Given the description of an element on the screen output the (x, y) to click on. 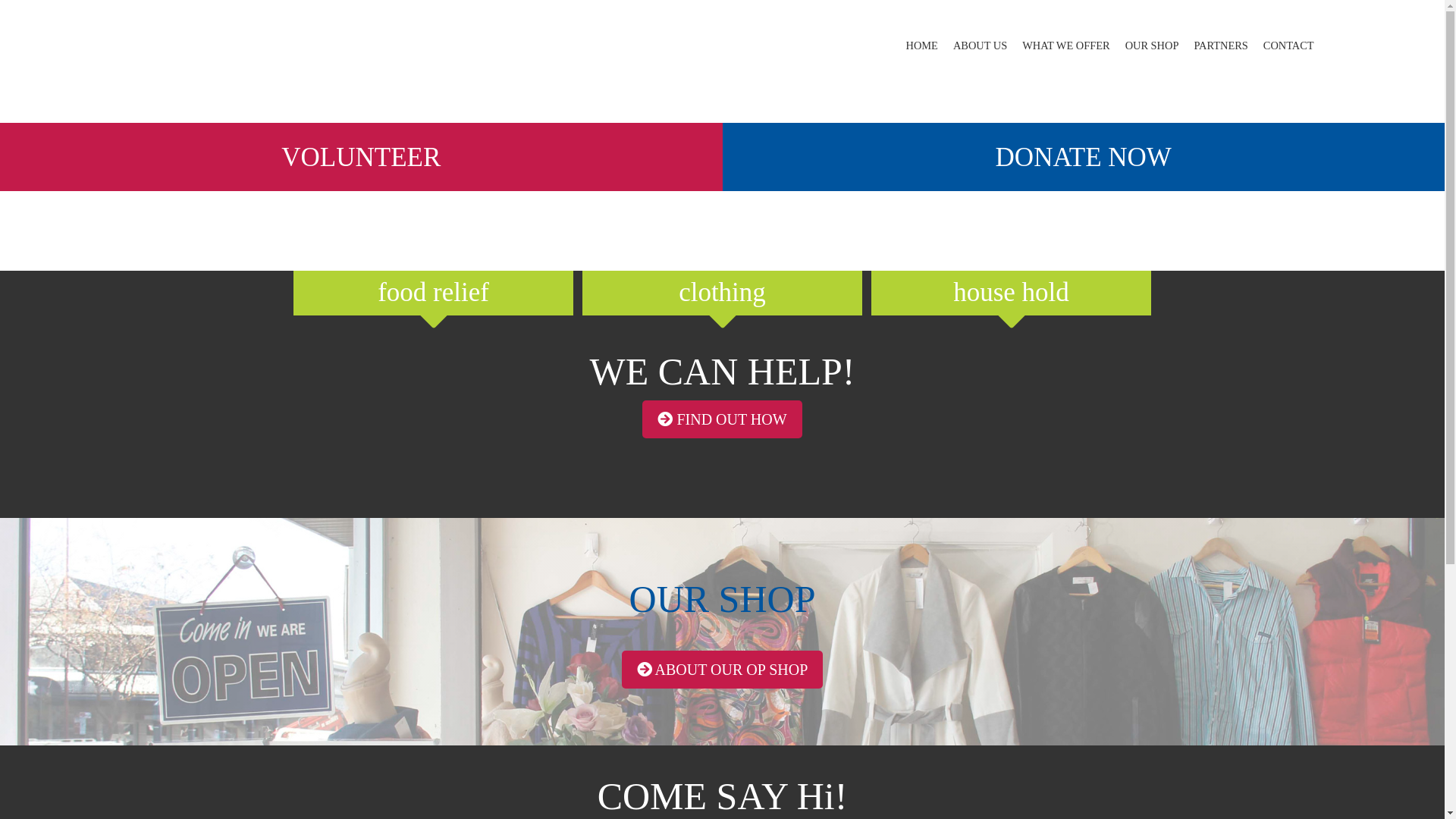
CONTACT Element type: text (1288, 45)
PARTNERS Element type: text (1220, 45)
FIND OUT HOW Element type: text (721, 419)
ABOUT US Element type: text (980, 45)
WHAT WE OFFER Element type: text (1065, 45)
ABOUT OUR OP SHOP Element type: text (722, 669)
HOME Element type: text (922, 45)
OUR SHOP Element type: text (1152, 45)
VOLUNTEER Element type: text (642, 159)
